Given the description of an element on the screen output the (x, y) to click on. 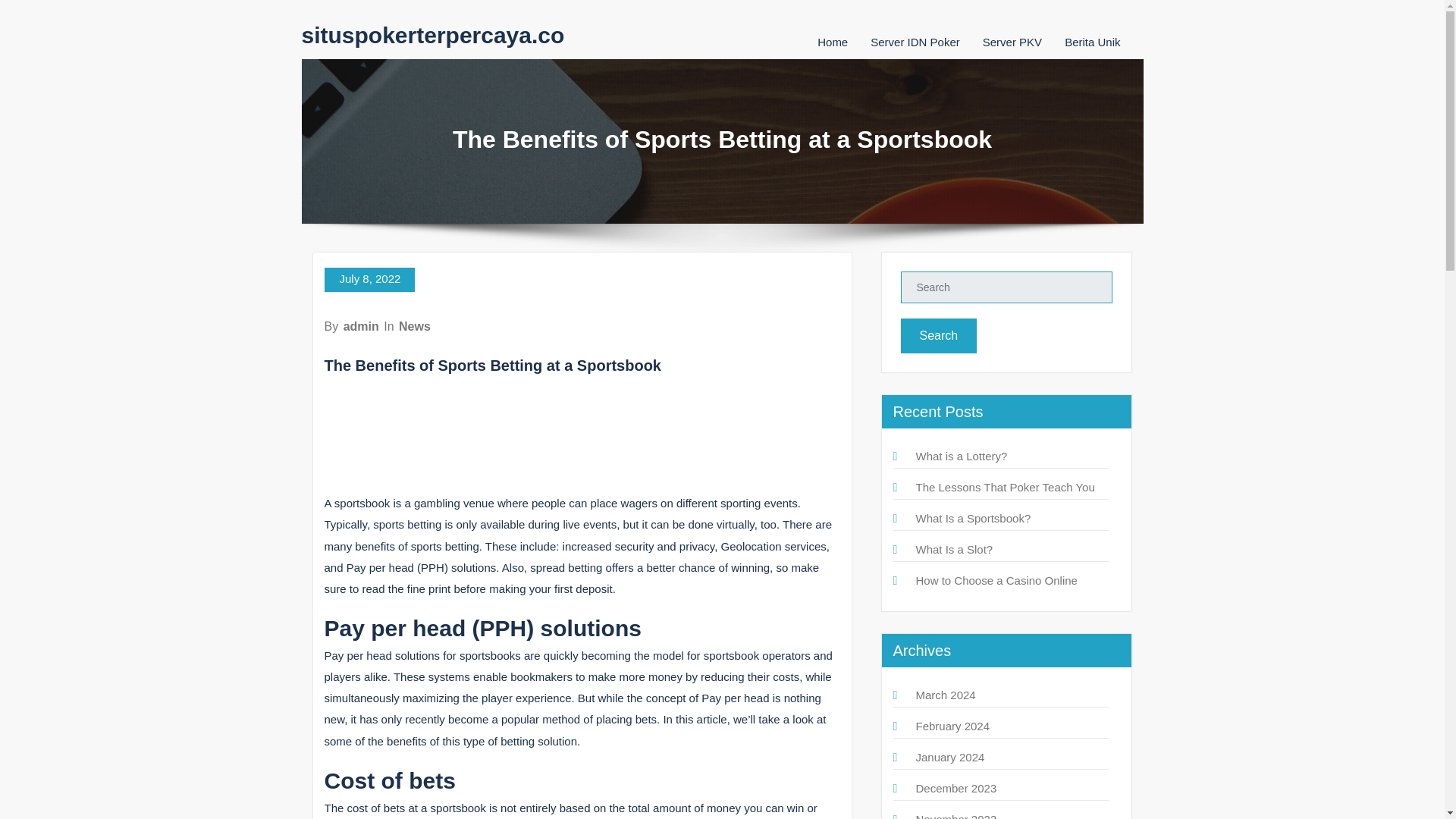
December 2023 (956, 788)
News (414, 326)
The Lessons That Poker Teach You (1004, 486)
Berita Unik (1091, 41)
How to Choose a Casino Online (996, 580)
February 2024 (952, 725)
November 2023 (956, 816)
What is a Lottery? (961, 455)
situspokerterpercaya.co (432, 34)
Search (938, 335)
January 2024 (950, 757)
July 8, 2022 (369, 279)
Server PKV (1012, 41)
What Is a Slot? (953, 549)
What Is a Sportsbook? (972, 517)
